Given the description of an element on the screen output the (x, y) to click on. 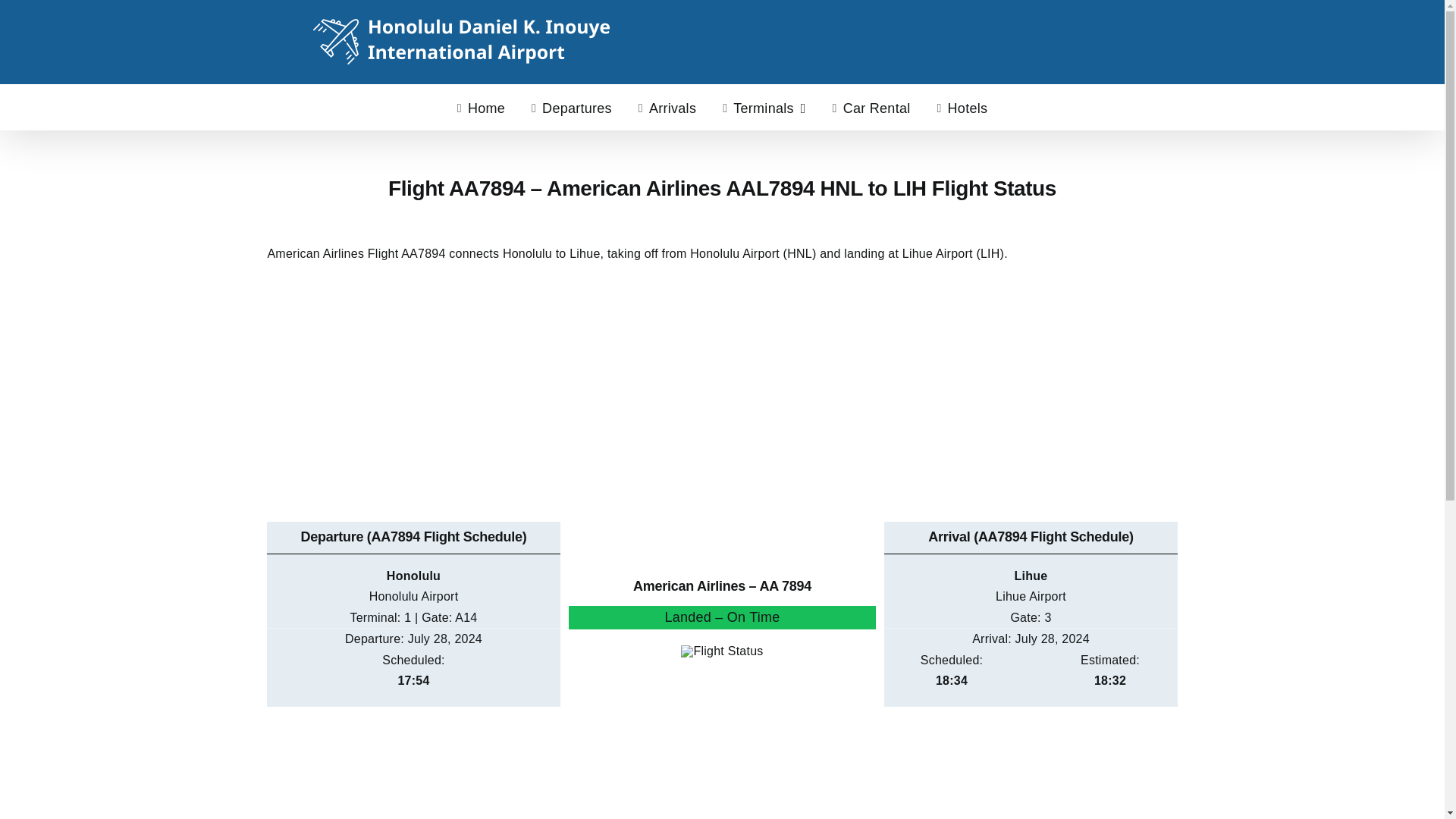
Terminals (763, 106)
Arrivals (667, 106)
Car Rental (871, 106)
Hotels (961, 106)
Home (481, 106)
Departures (571, 106)
